Given the description of an element on the screen output the (x, y) to click on. 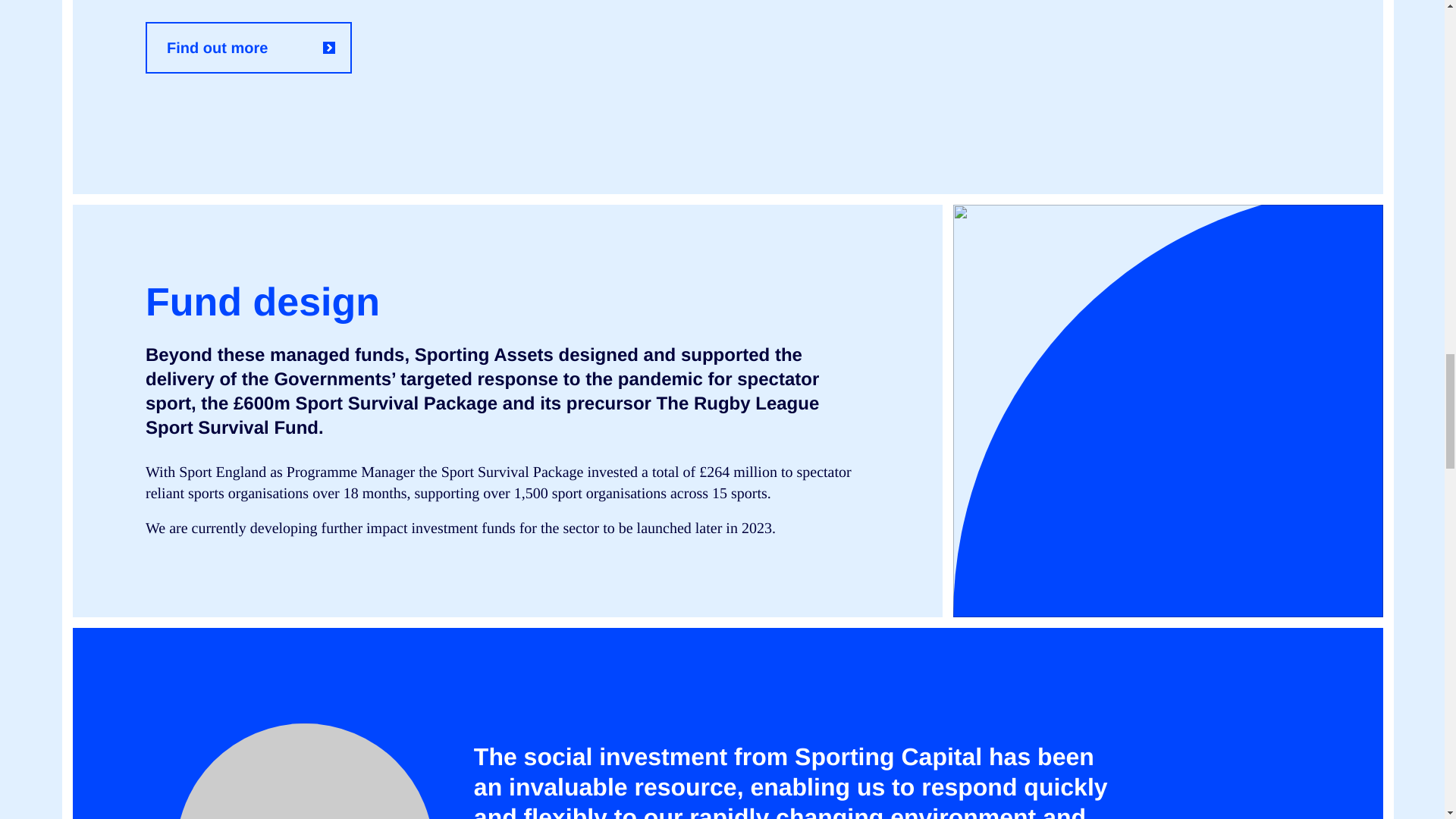
Find out more (248, 47)
